Given the description of an element on the screen output the (x, y) to click on. 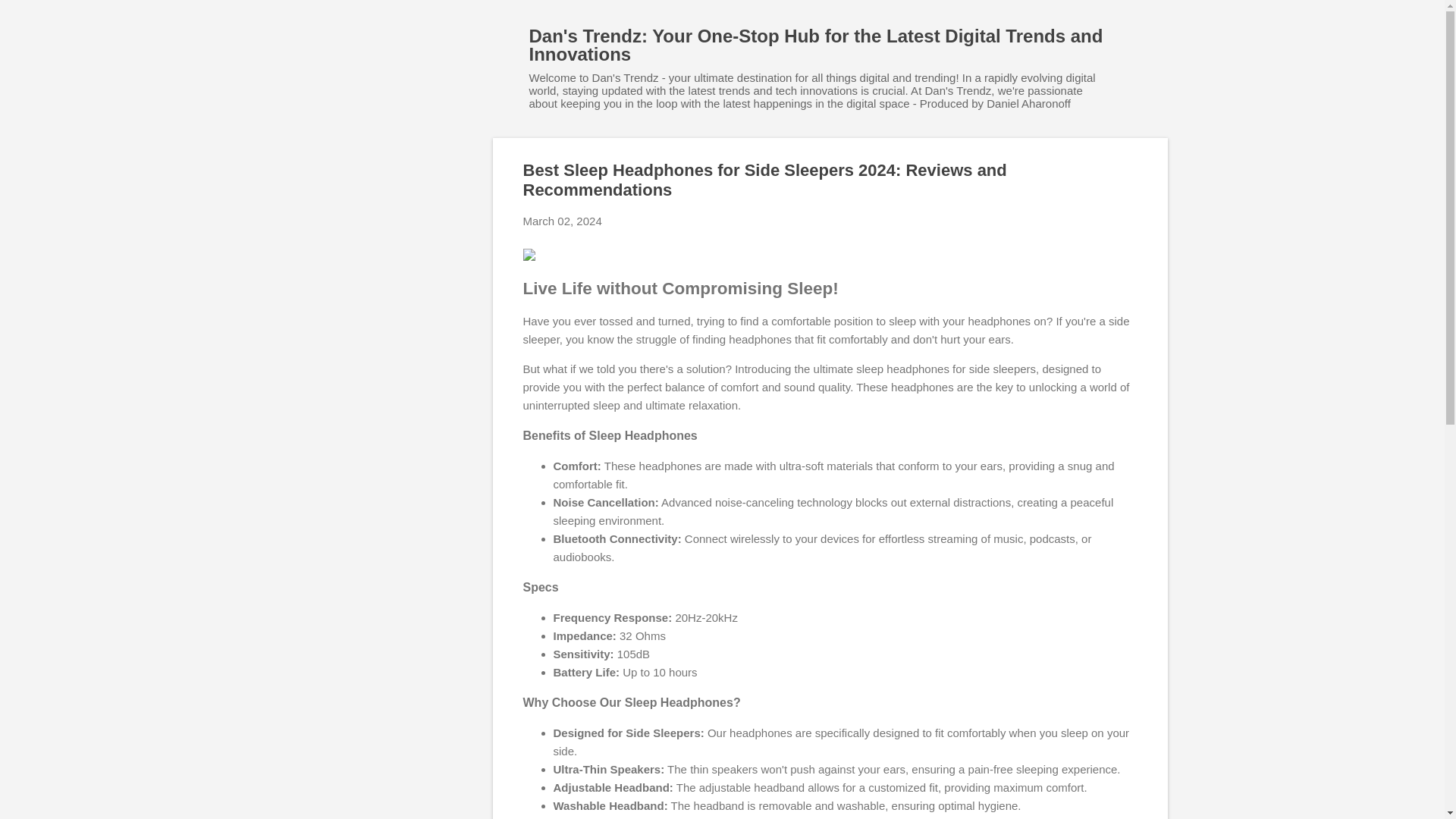
permanent link (562, 220)
March 02, 2024 (562, 220)
